Given the description of an element on the screen output the (x, y) to click on. 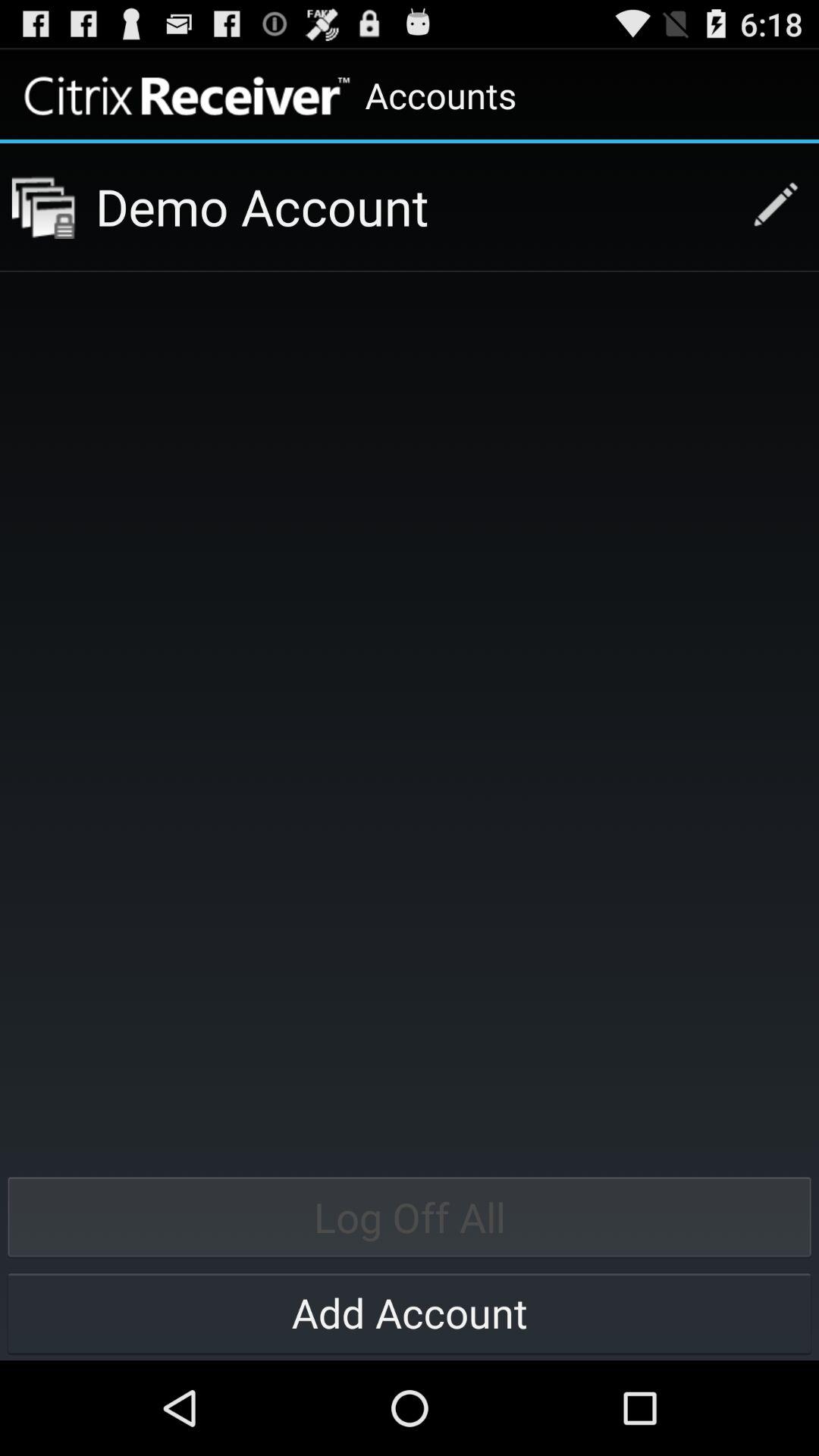
select add account item (409, 1312)
